Given the description of an element on the screen output the (x, y) to click on. 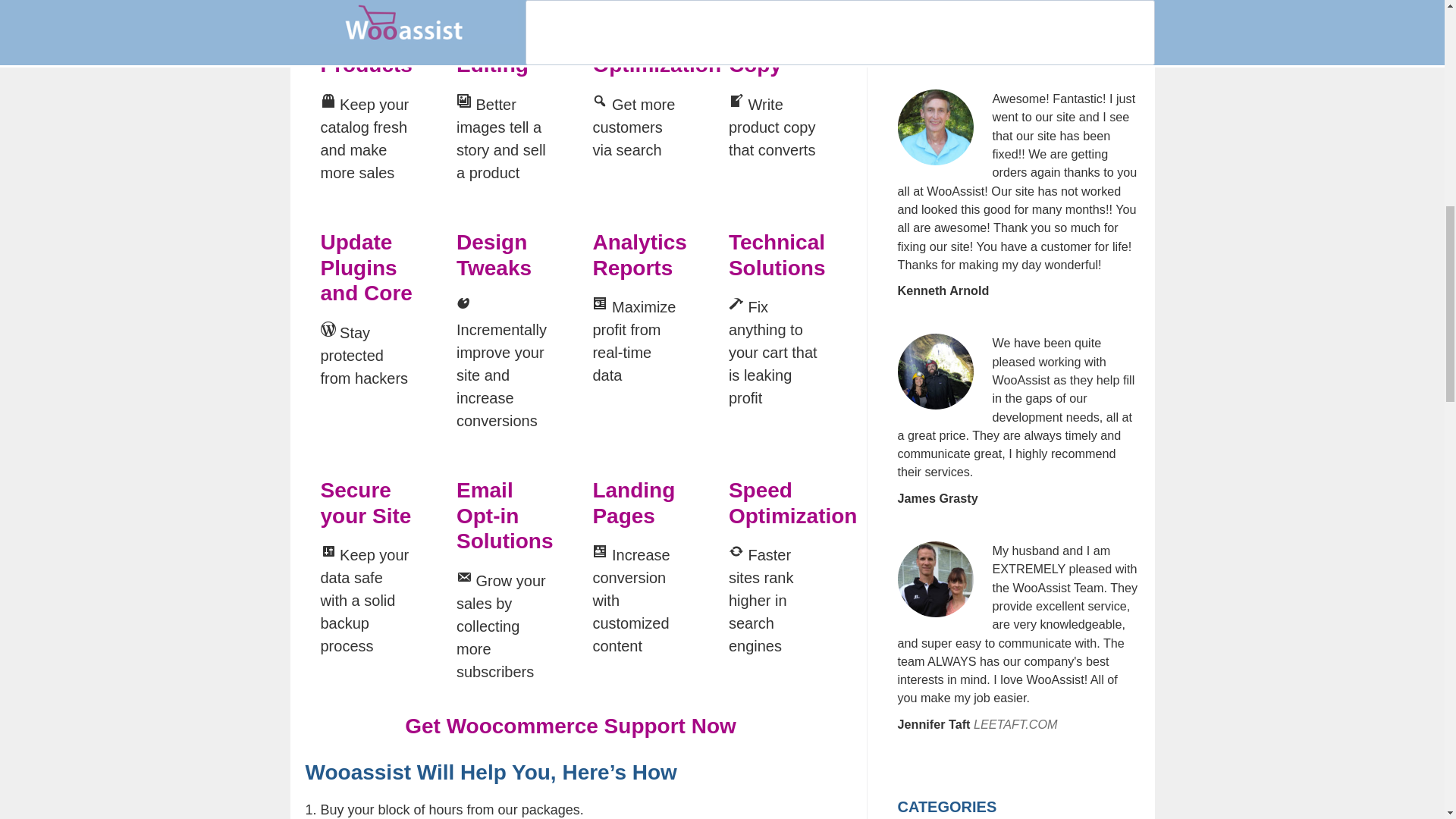
Improve Product Copy (769, 39)
Product Image Editing for Ecommerce (497, 39)
Email Opt-in Solutions (505, 515)
Email Opt-in Solutions for WooCommerce (505, 515)
Search Engine Optimization (656, 39)
Technical Solutions for WooCommerce (777, 255)
Analytics Report for WooCommerce (639, 255)
Technical Solutions (777, 255)
Update Plugins and Core (366, 267)
Ecommerce Speed Optimization (793, 502)
SEO for WooCommerce (656, 39)
Design Tweaks (494, 255)
Speed Optimization (793, 502)
Analytics Reports (639, 255)
Create and Edit Products for WooCommerce (366, 39)
